Given the description of an element on the screen output the (x, y) to click on. 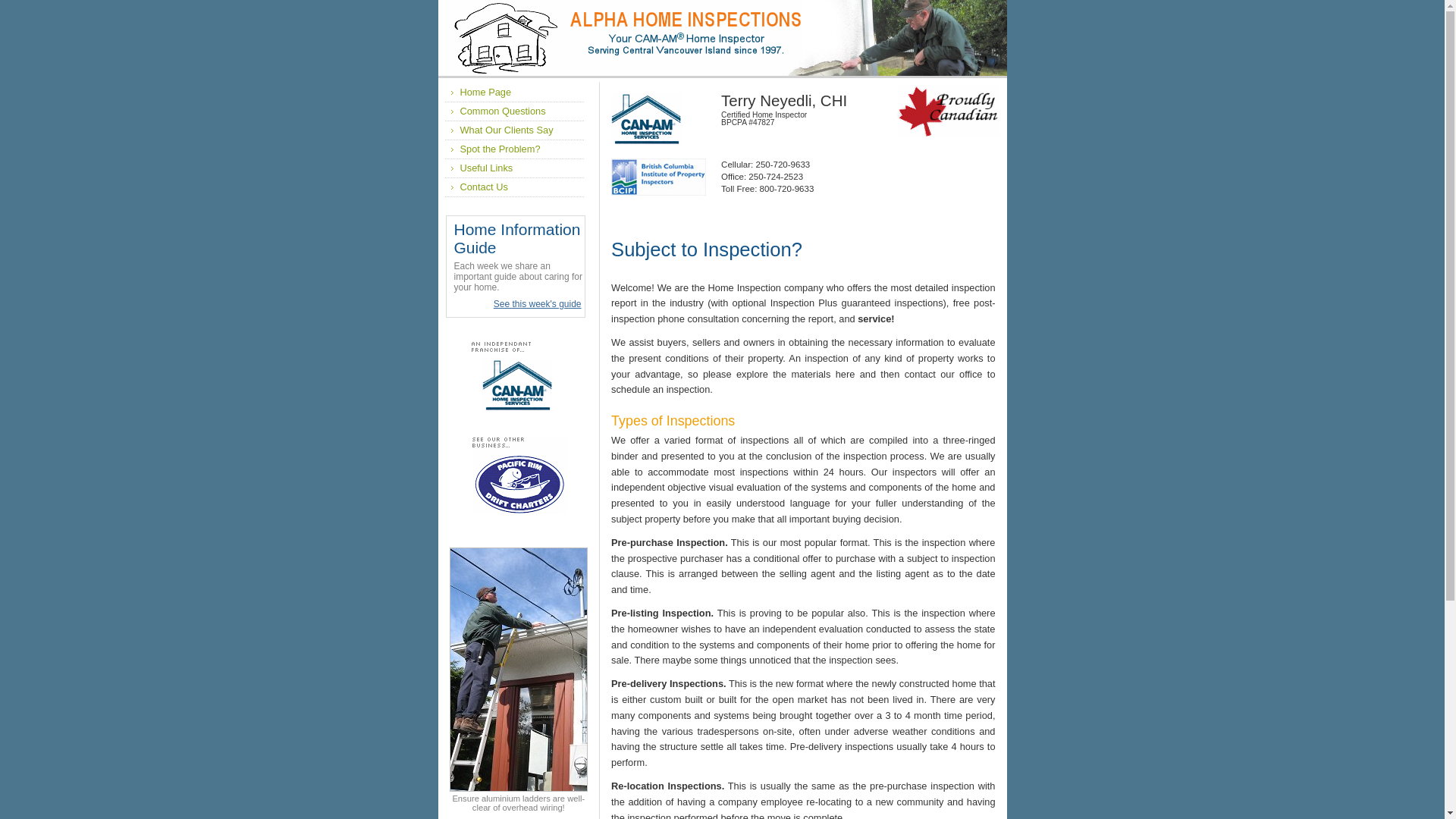
Spot the Problem? Element type: text (491, 149)
Home Page Element type: text (477, 92)
Common Questions Element type: text (494, 111)
Useful Links Element type: text (478, 168)
What Our Clients Say Element type: text (498, 130)
Contact Us Element type: text (475, 187)
CAN-AM Home Inspection Services Element type: hover (495, 406)
See this week's guide Element type: text (537, 303)
Pacific Rim Drift Charters Element type: hover (502, 539)
